Given the description of an element on the screen output the (x, y) to click on. 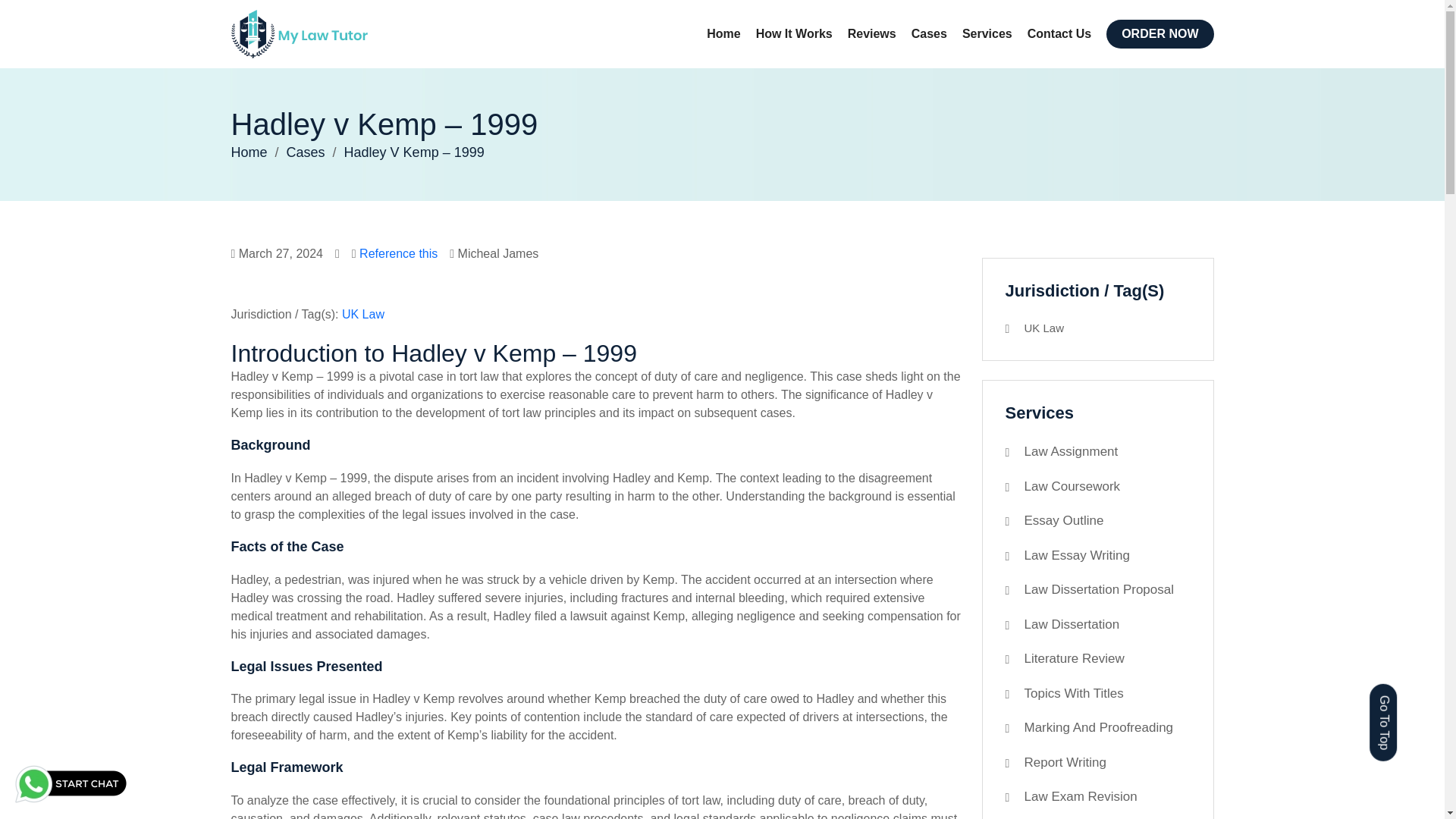
How It Works (793, 33)
ORDER NOW (1159, 33)
Contact Us (1058, 33)
